Given the description of an element on the screen output the (x, y) to click on. 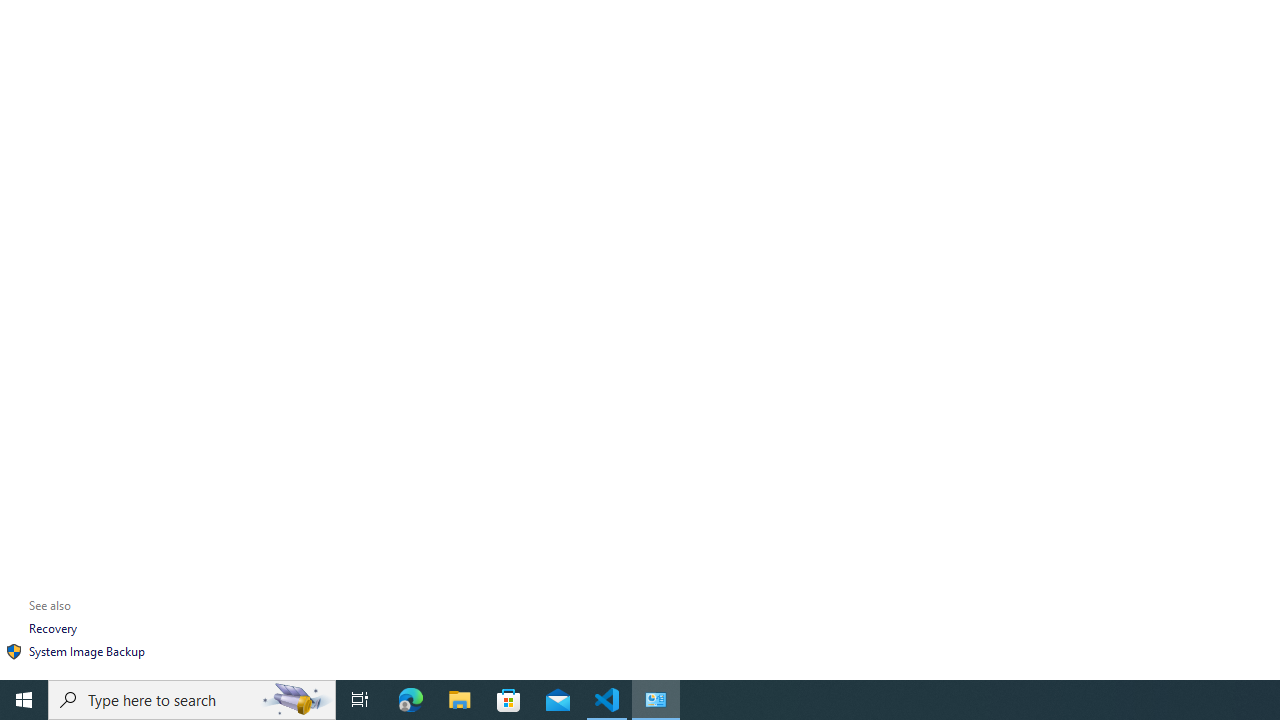
System Image Backup (86, 650)
Recovery (52, 627)
Icon (13, 651)
Control Panel - 1 running window (656, 699)
